Given the description of an element on the screen output the (x, y) to click on. 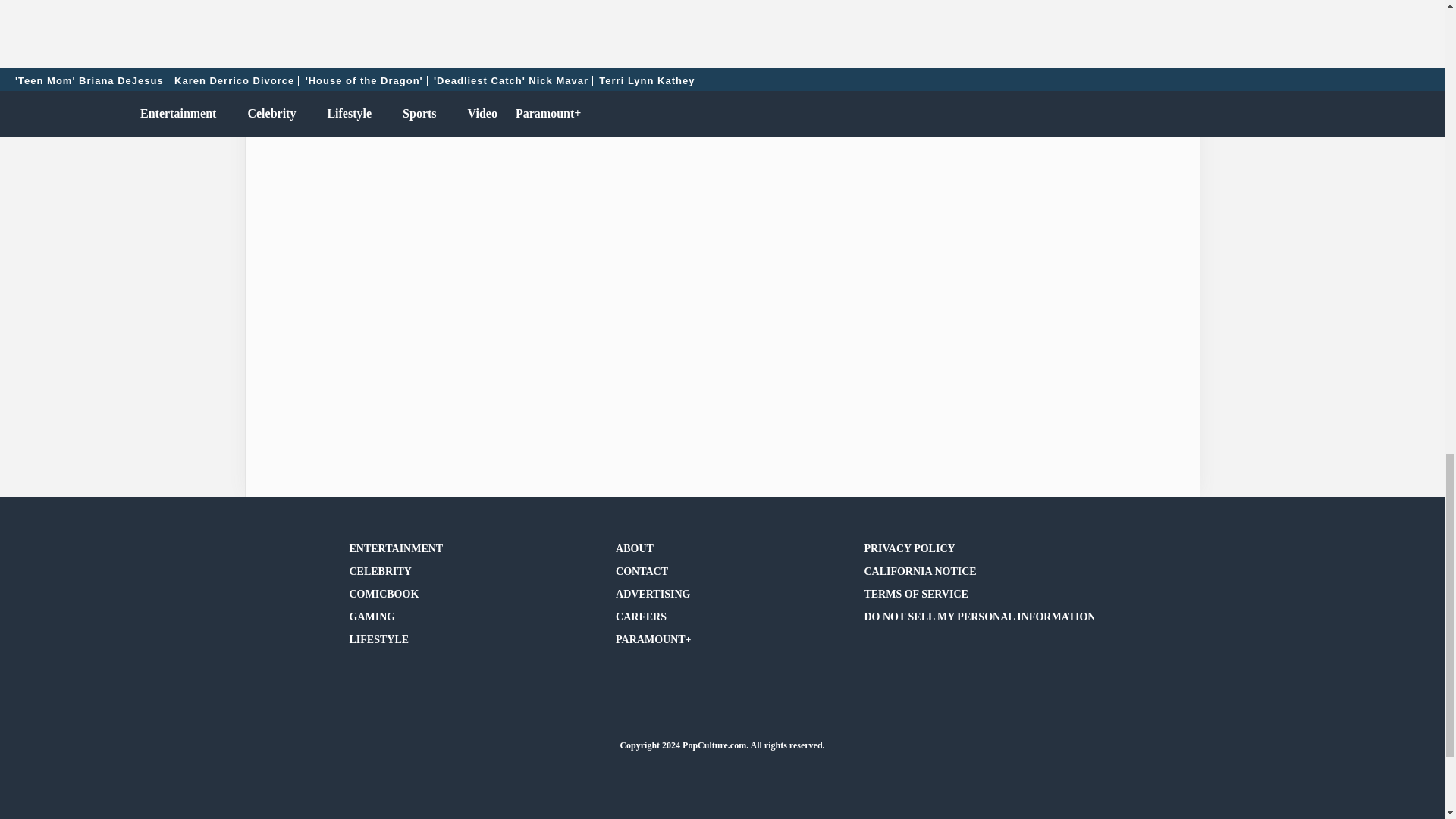
submit (1130, 27)
